Given the description of an element on the screen output the (x, y) to click on. 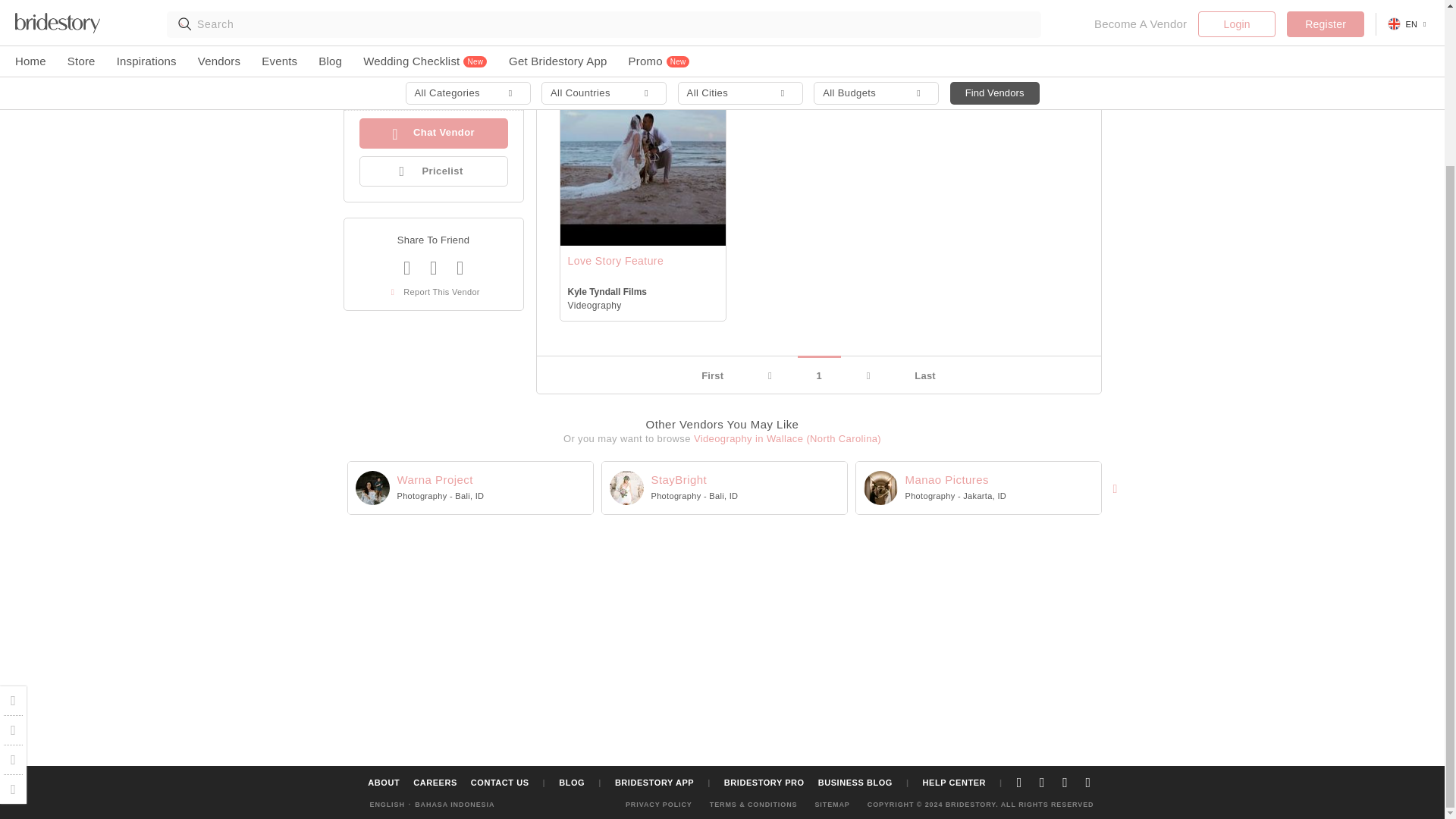
Careers (13, 592)
Manao Pictures (879, 487)
Kyle Tyndall Films (372, 5)
Pricelist (433, 171)
Kyle Tyndall Films (430, 4)
US (488, 51)
Love Story Feature by Kyle Tyndall Films (642, 160)
First (712, 374)
Love Story Feature (615, 260)
Contact Us (13, 562)
Kyle Tyndall Films (606, 292)
StayBright (626, 487)
 Report This Vendor (433, 291)
Chat Vendor (433, 132)
Submit A Wedding (13, 503)
